Given the description of an element on the screen output the (x, y) to click on. 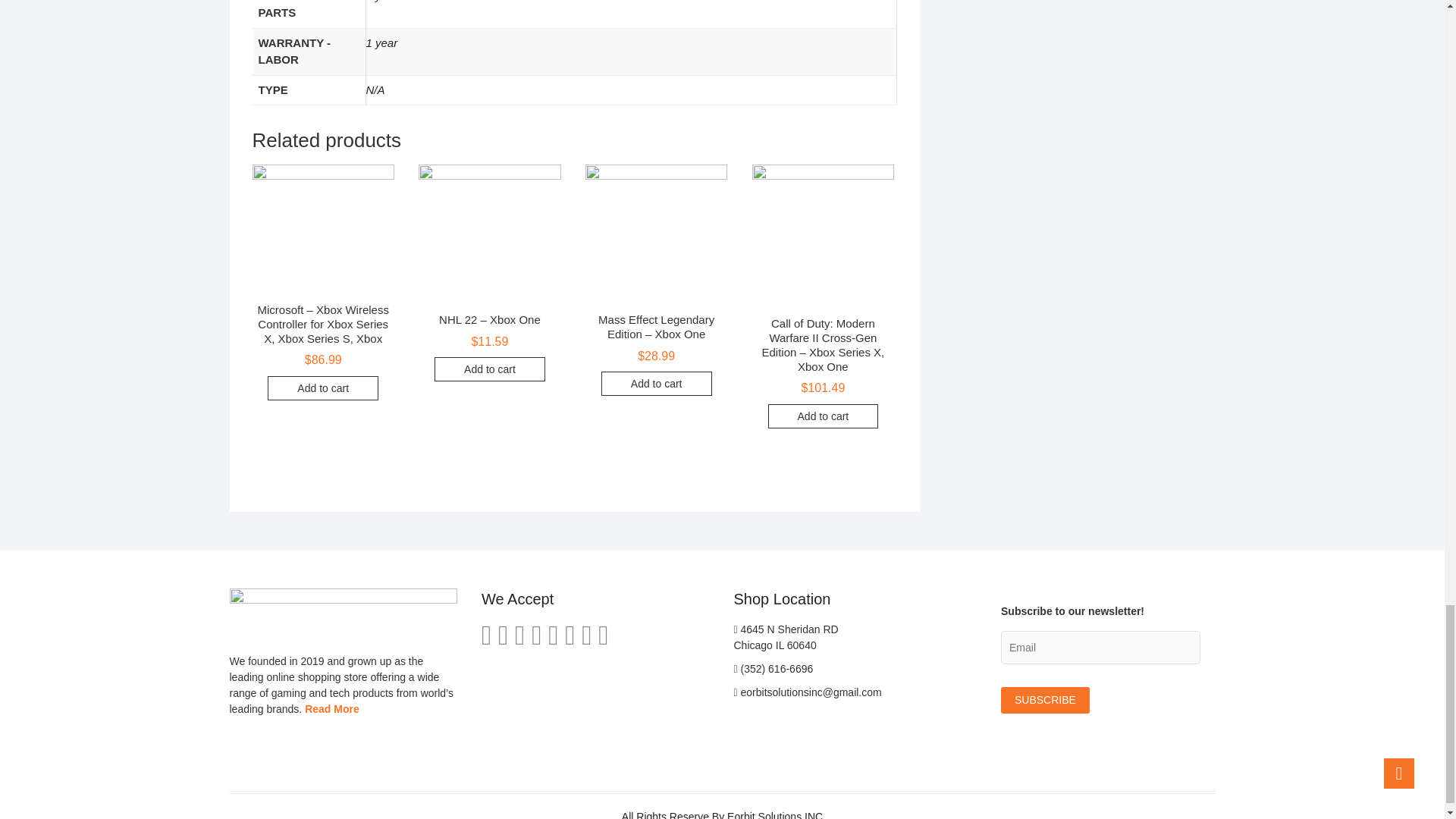
Subscribe (1045, 699)
